Given the description of an element on the screen output the (x, y) to click on. 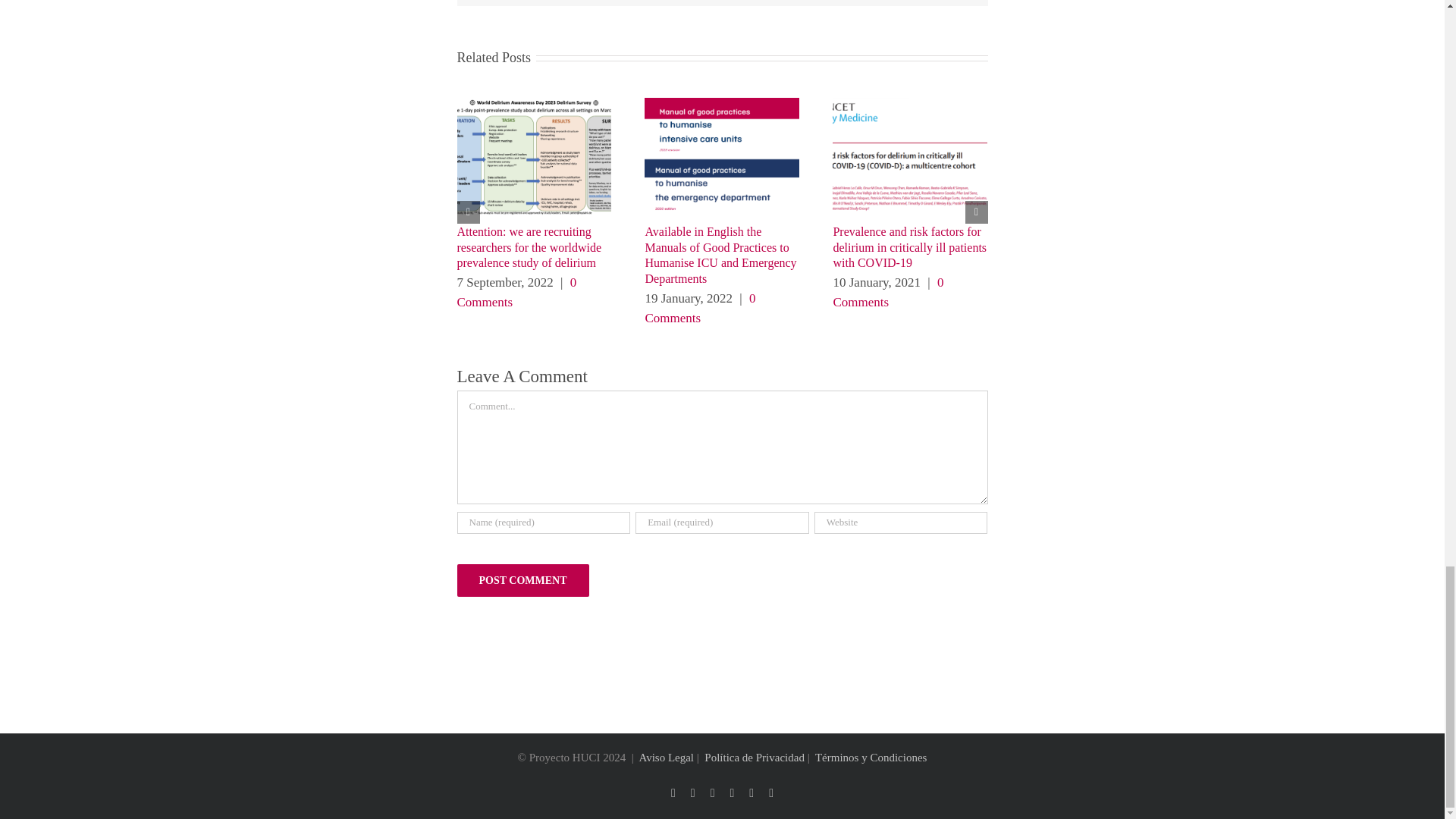
Post Comment (522, 580)
